Given the description of an element on the screen output the (x, y) to click on. 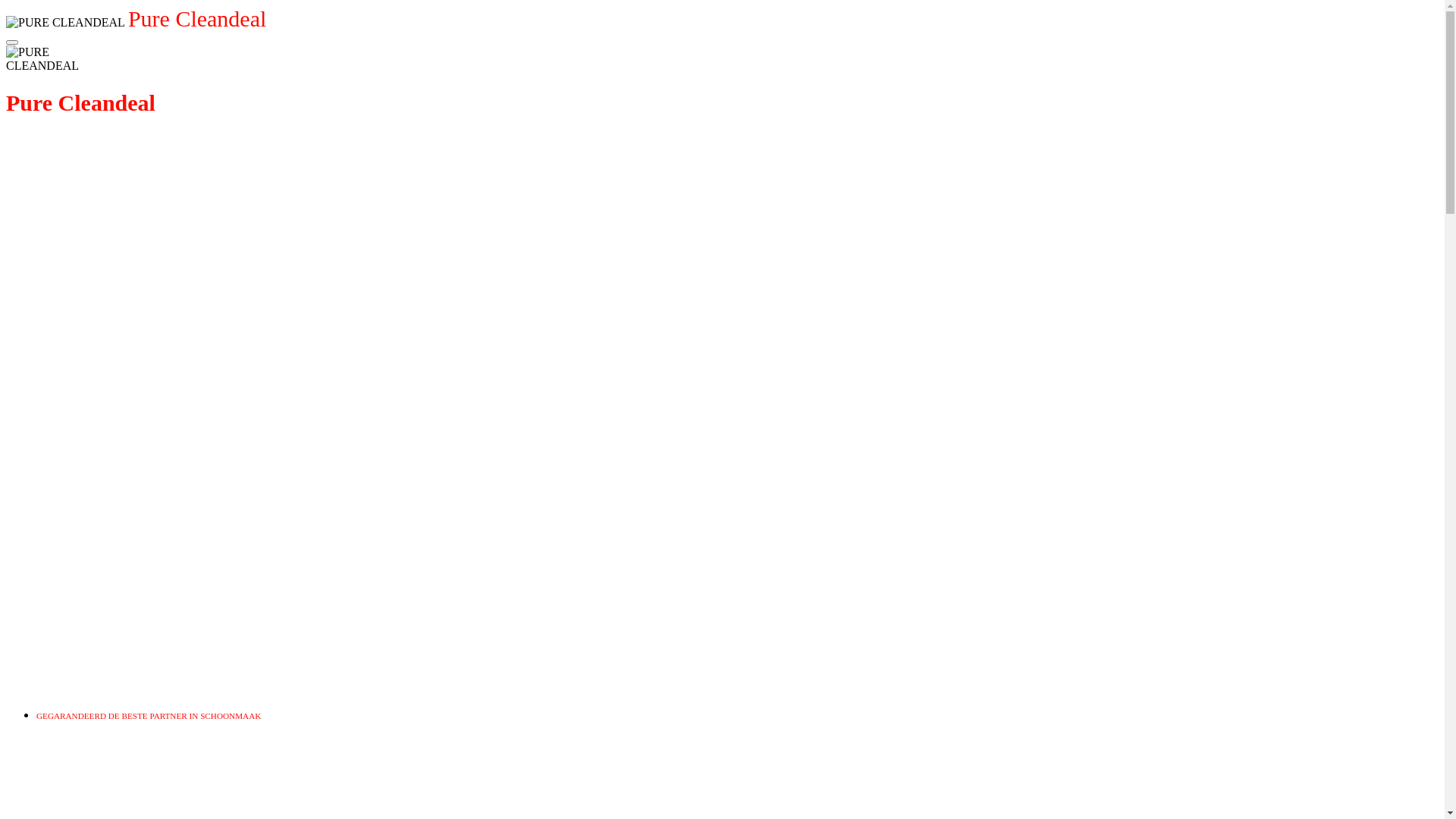
PURE CLEANDEAL Element type: hover (51, 58)
PURE CLEANDEAL Element type: hover (65, 22)
